Given the description of an element on the screen output the (x, y) to click on. 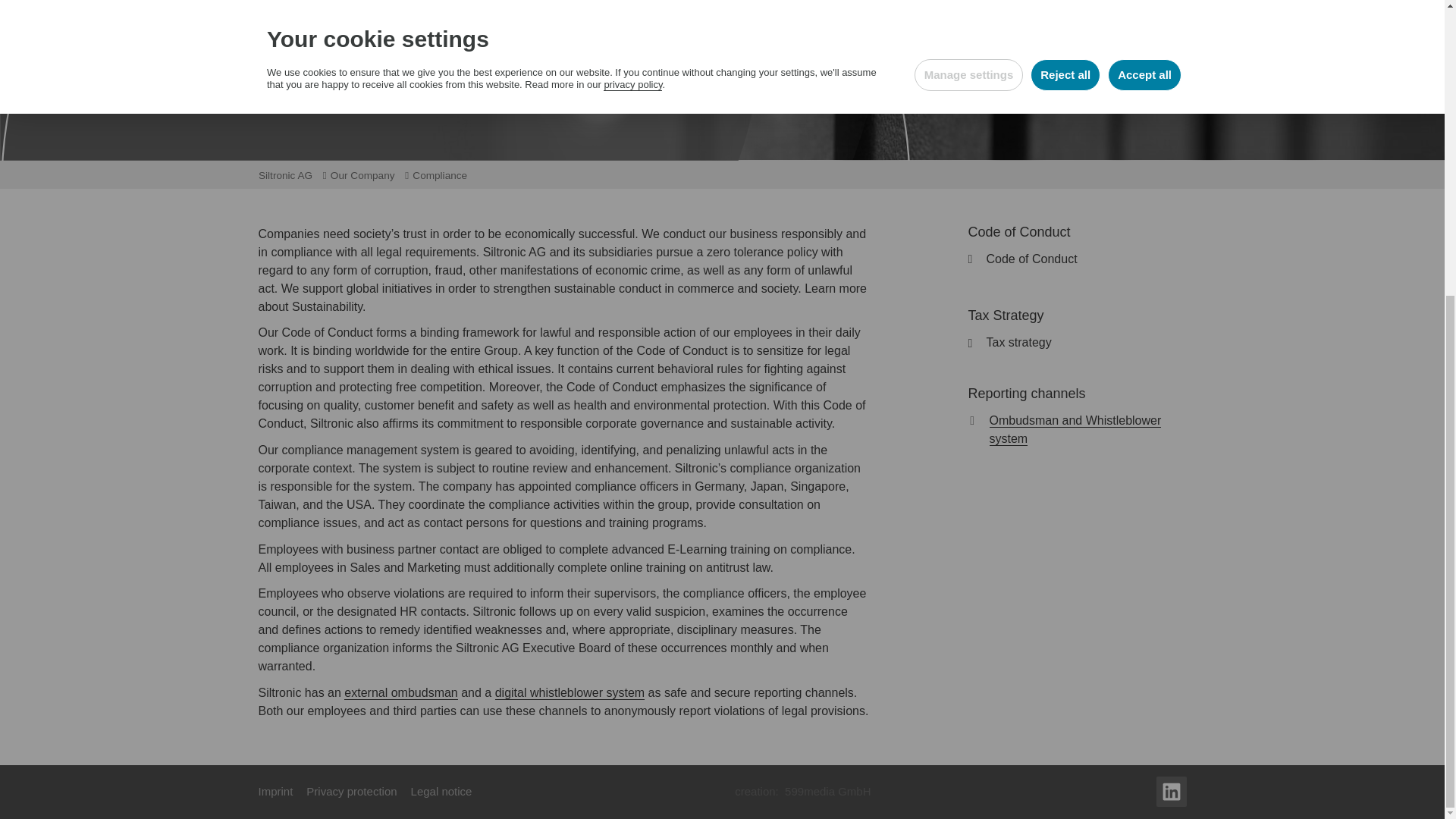
Siltronic AG (289, 175)
Our Company (368, 175)
LinkedIn (1171, 791)
